Given the description of an element on the screen output the (x, y) to click on. 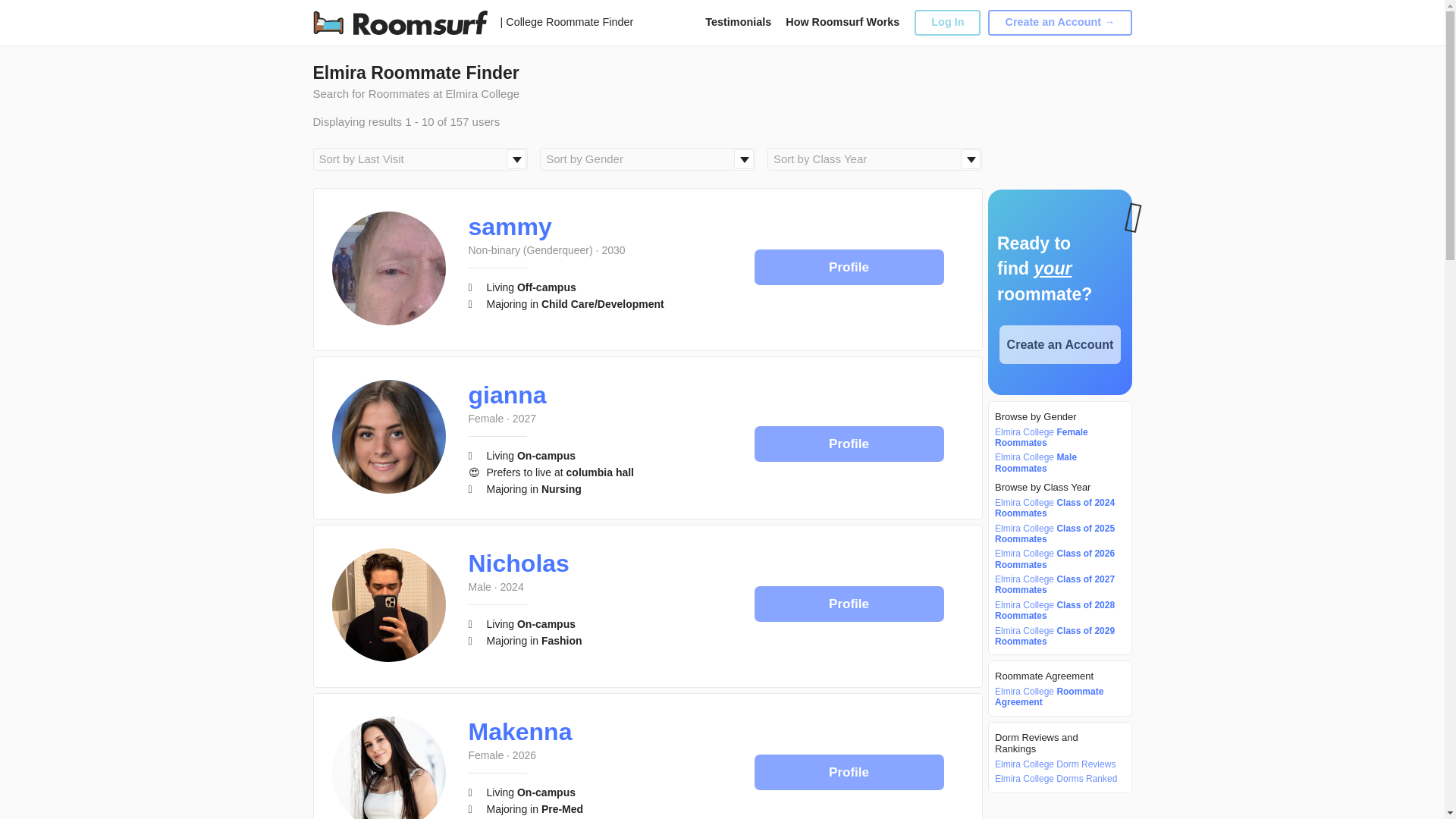
gianna (507, 394)
2027 (523, 418)
How Roomsurf Works (842, 21)
sammy (509, 226)
Profile (848, 266)
2030 (612, 250)
Profile (848, 443)
Female (485, 418)
Profile (848, 267)
Profile (848, 443)
